Given the description of an element on the screen output the (x, y) to click on. 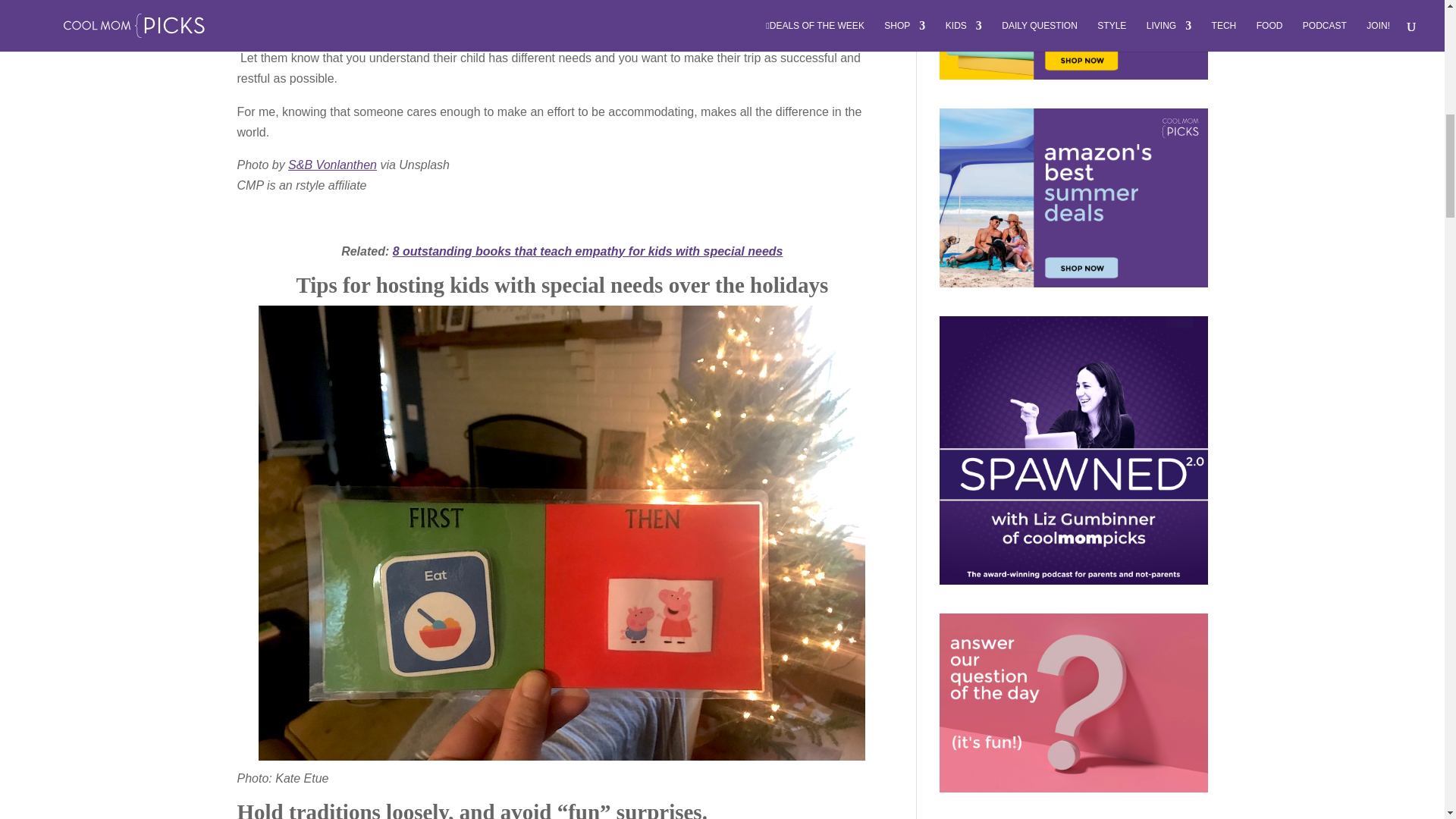
Amazon's best summer deals (1073, 197)
